Given the description of an element on the screen output the (x, y) to click on. 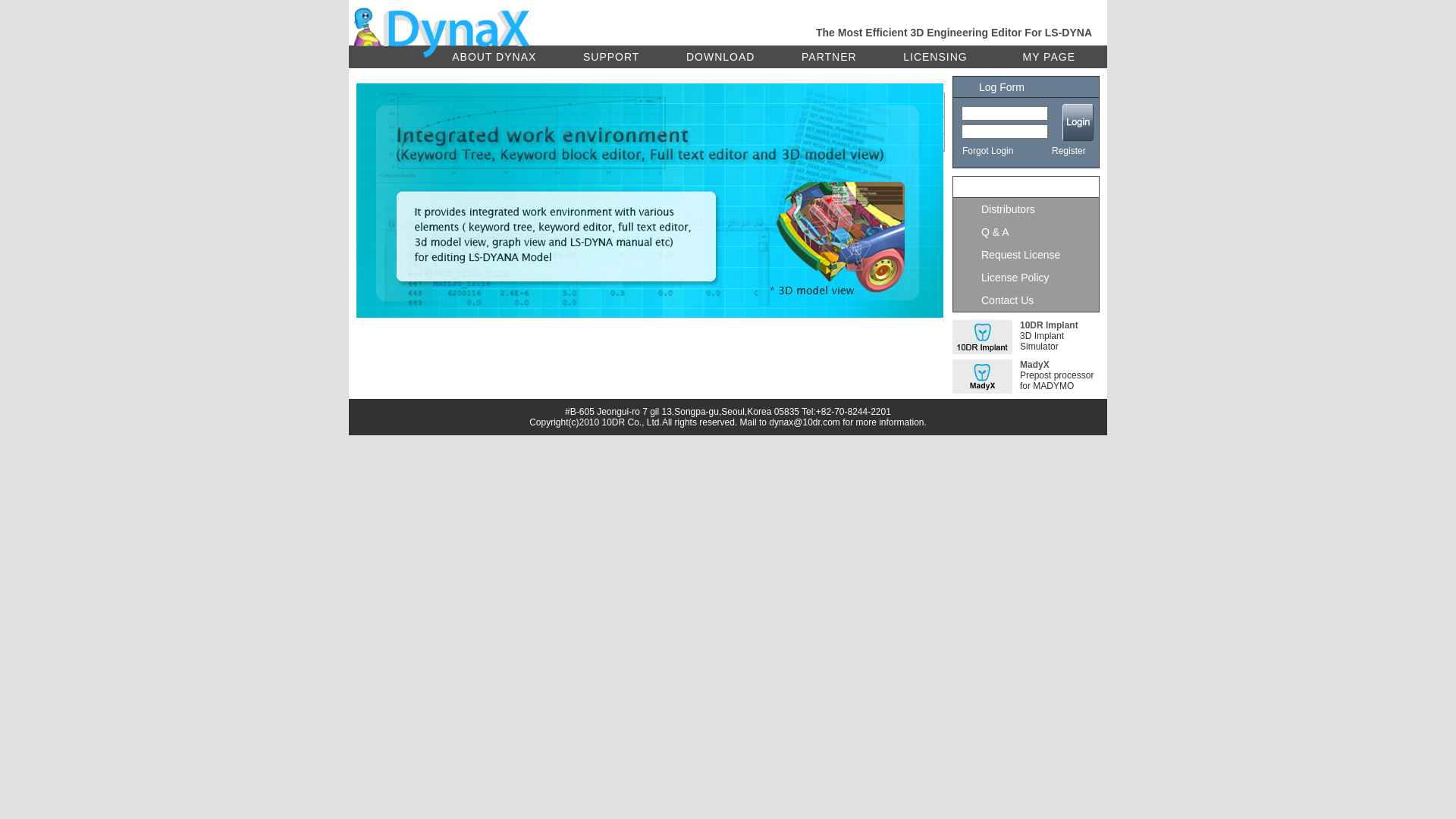
Distributors Element type: text (1025, 208)
Register Element type: text (1068, 152)
Request License Element type: text (1025, 254)
SUPPORT Element type: text (610, 56)
Installation set files of Dyna... Element type: text (426, 125)
dynax@10dr.com Element type: text (804, 422)
MY PAGE Element type: text (1048, 56)
DOWNLOAD Element type: text (720, 56)
Forgot Login Element type: text (987, 152)
2013 China LS-DYNA Users' Conf... Element type: text (440, 192)
Q & A Element type: text (1025, 231)
How to Contact Us Element type: text (704, 142)
DynaX Version 2.5 Release Element type: text (423, 175)
USA LS-DYNA Users' Conference ... Element type: text (440, 158)
License Policy Element type: text (1025, 277)
LICENSING Element type: text (934, 56)
Contact Us Element type: text (1025, 299)
KOREA LS-DYNA Users' Conferenc... Element type: text (443, 142)
PARTNER Element type: text (828, 56)
ABOUT DYNAX Element type: text (493, 56)
